Given the description of an element on the screen output the (x, y) to click on. 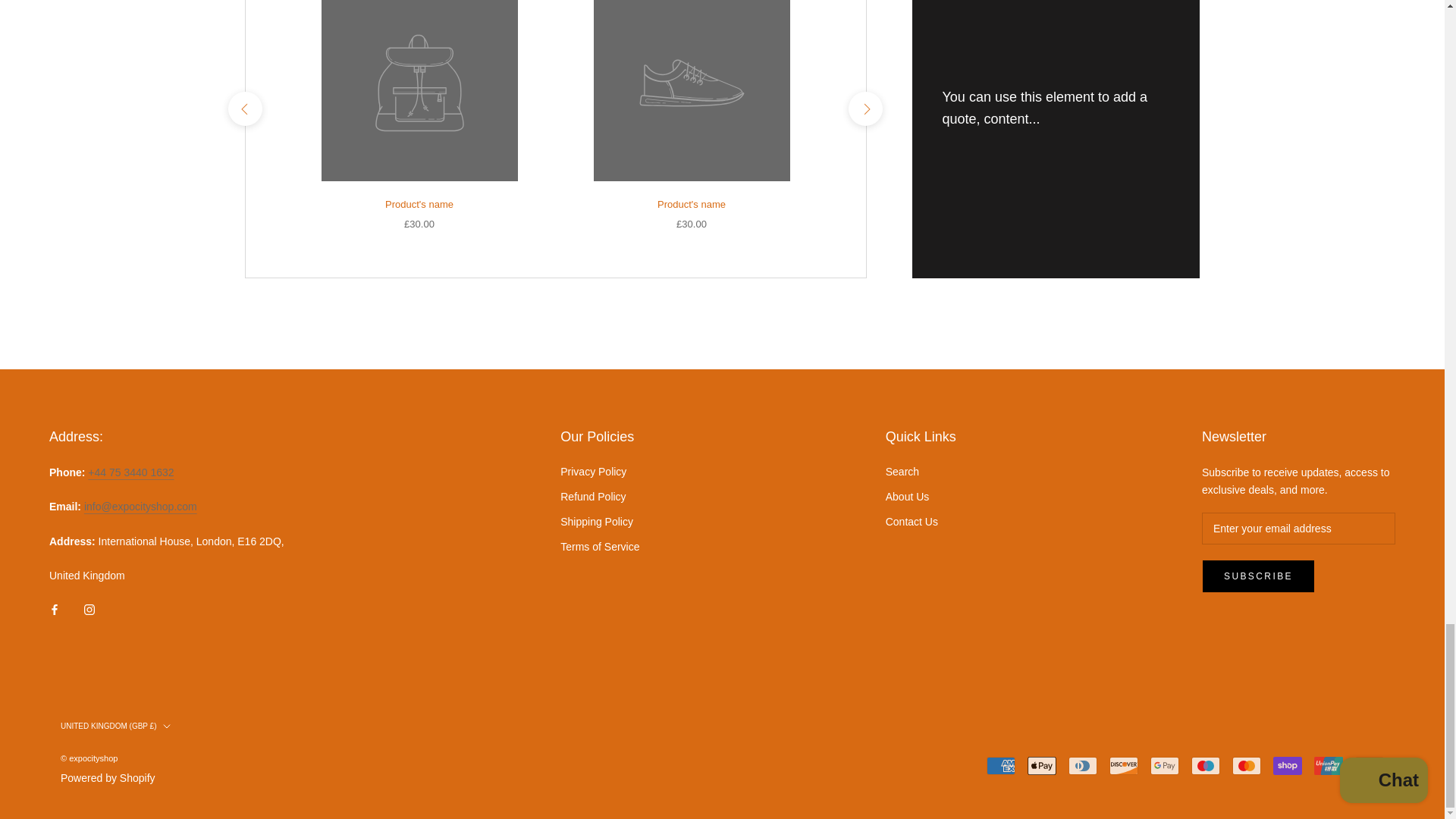
Google Pay (1164, 765)
Diners Club (1082, 765)
Apple Pay (1042, 765)
American Express (1000, 765)
Discover (1123, 765)
Maestro (1205, 765)
